Given the description of an element on the screen output the (x, y) to click on. 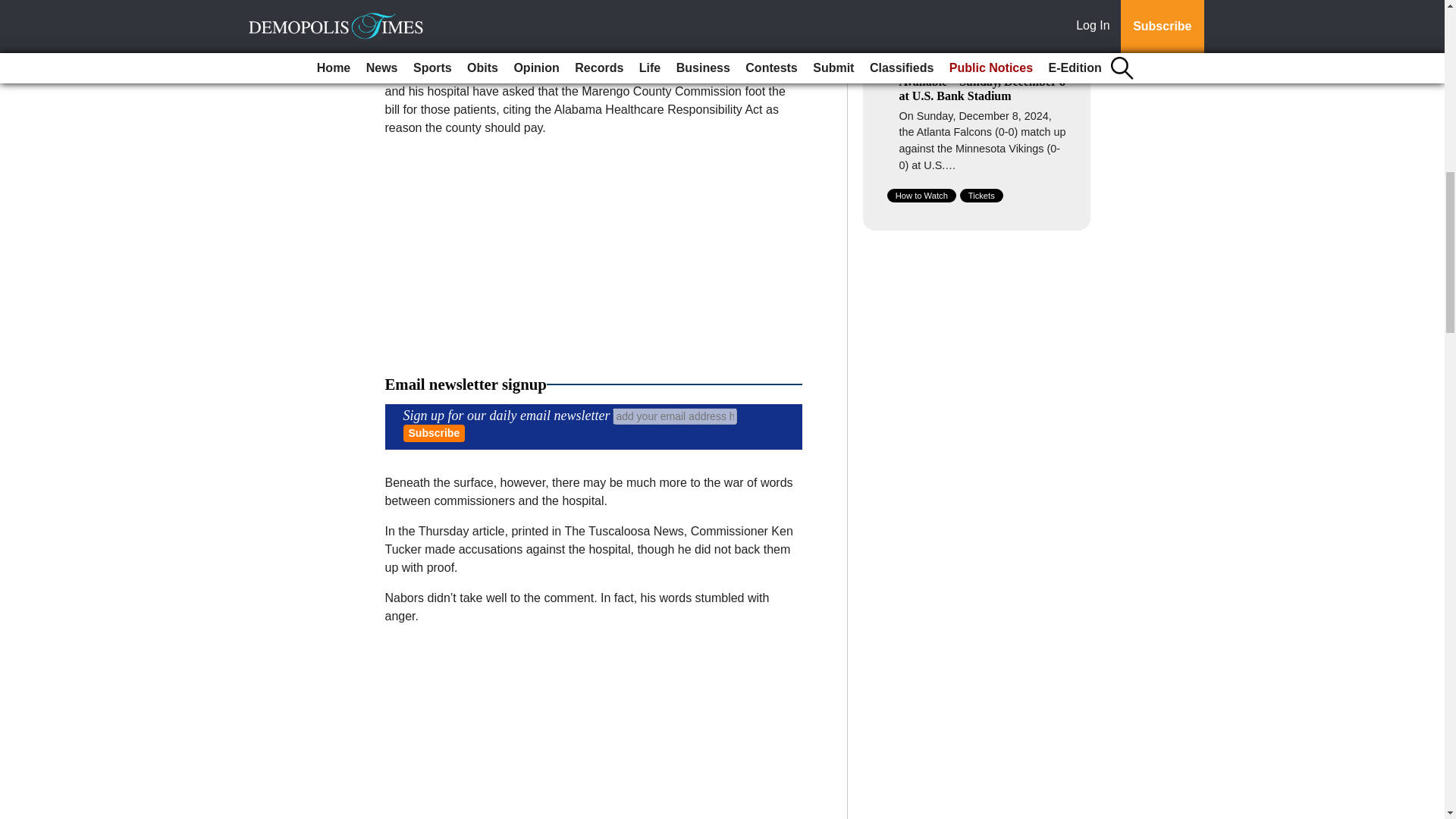
Subscribe (434, 433)
Subscribe (434, 433)
Tickets (981, 195)
How to Watch (921, 195)
